Given the description of an element on the screen output the (x, y) to click on. 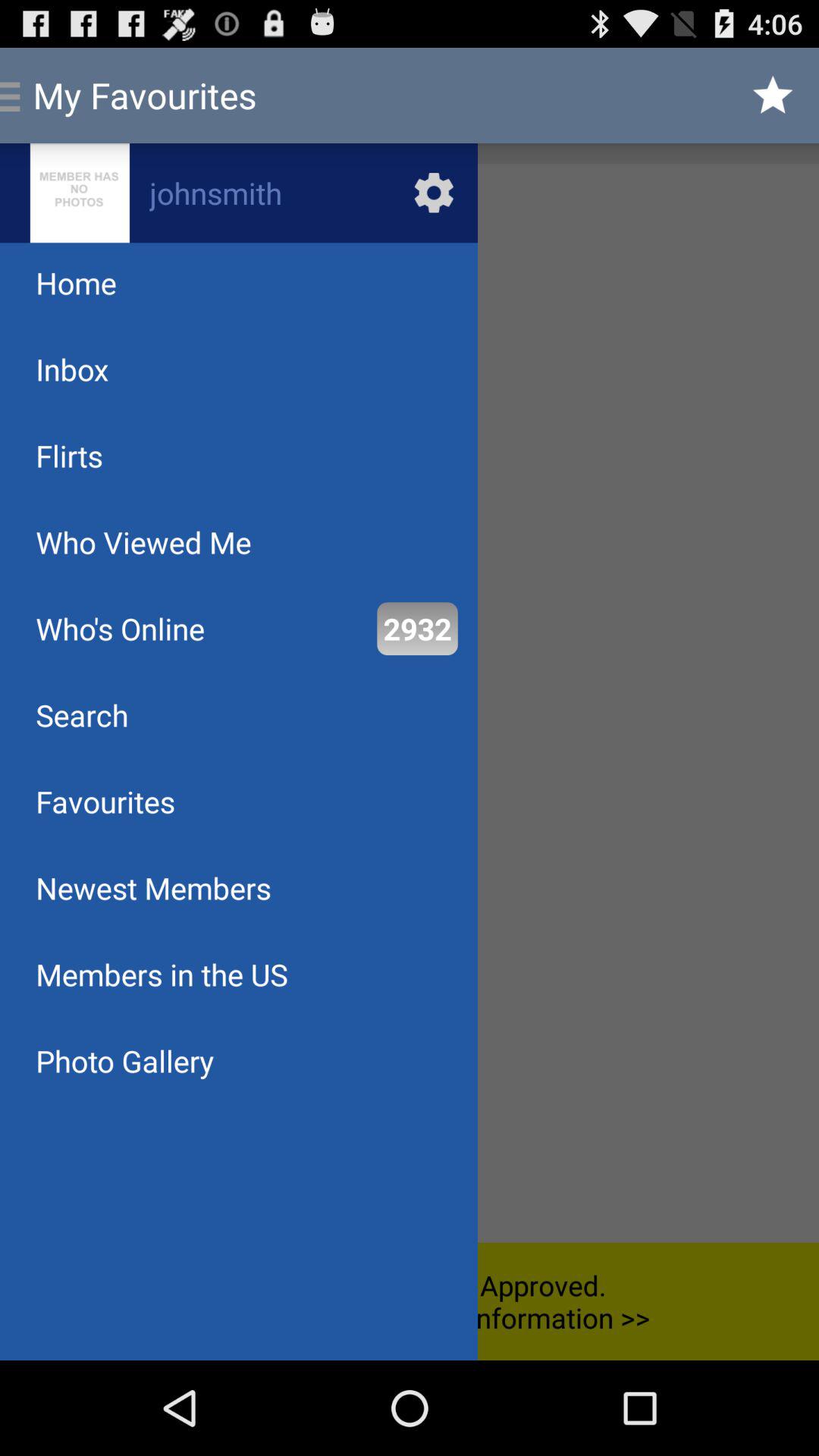
tap icon above the your profile is item (417, 628)
